Given the description of an element on the screen output the (x, y) to click on. 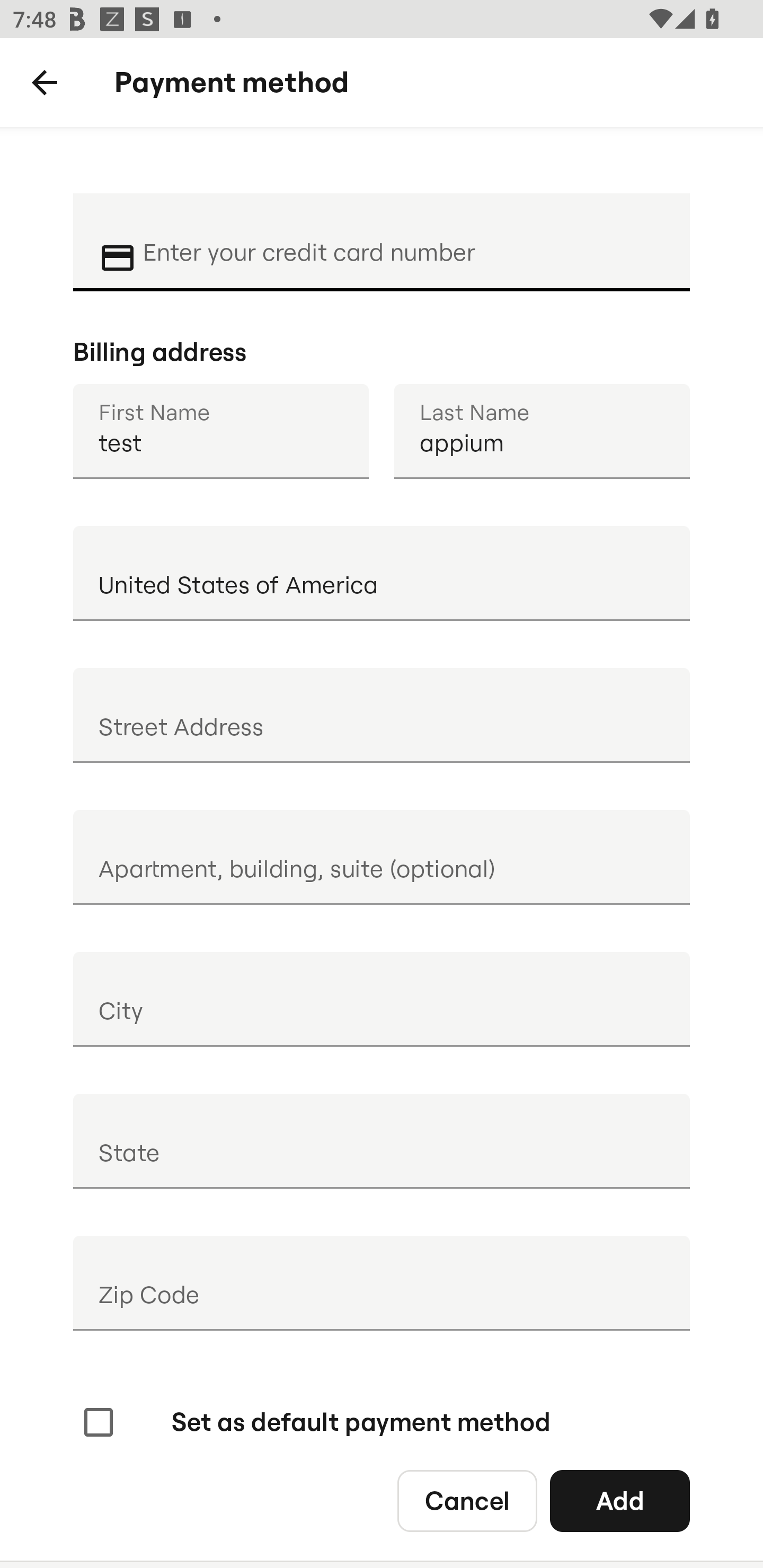
Back (44, 82)
Enter your credit card number (403, 240)
test (220, 431)
appium (541, 431)
United States of America (381, 572)
Street Address (381, 714)
Apartment, building, suite (optional) (381, 857)
City (381, 999)
State (381, 1141)
Zip Code (381, 1283)
Set as default payment method (314, 1421)
Cancel (467, 1500)
Add (619, 1500)
